Given the description of an element on the screen output the (x, y) to click on. 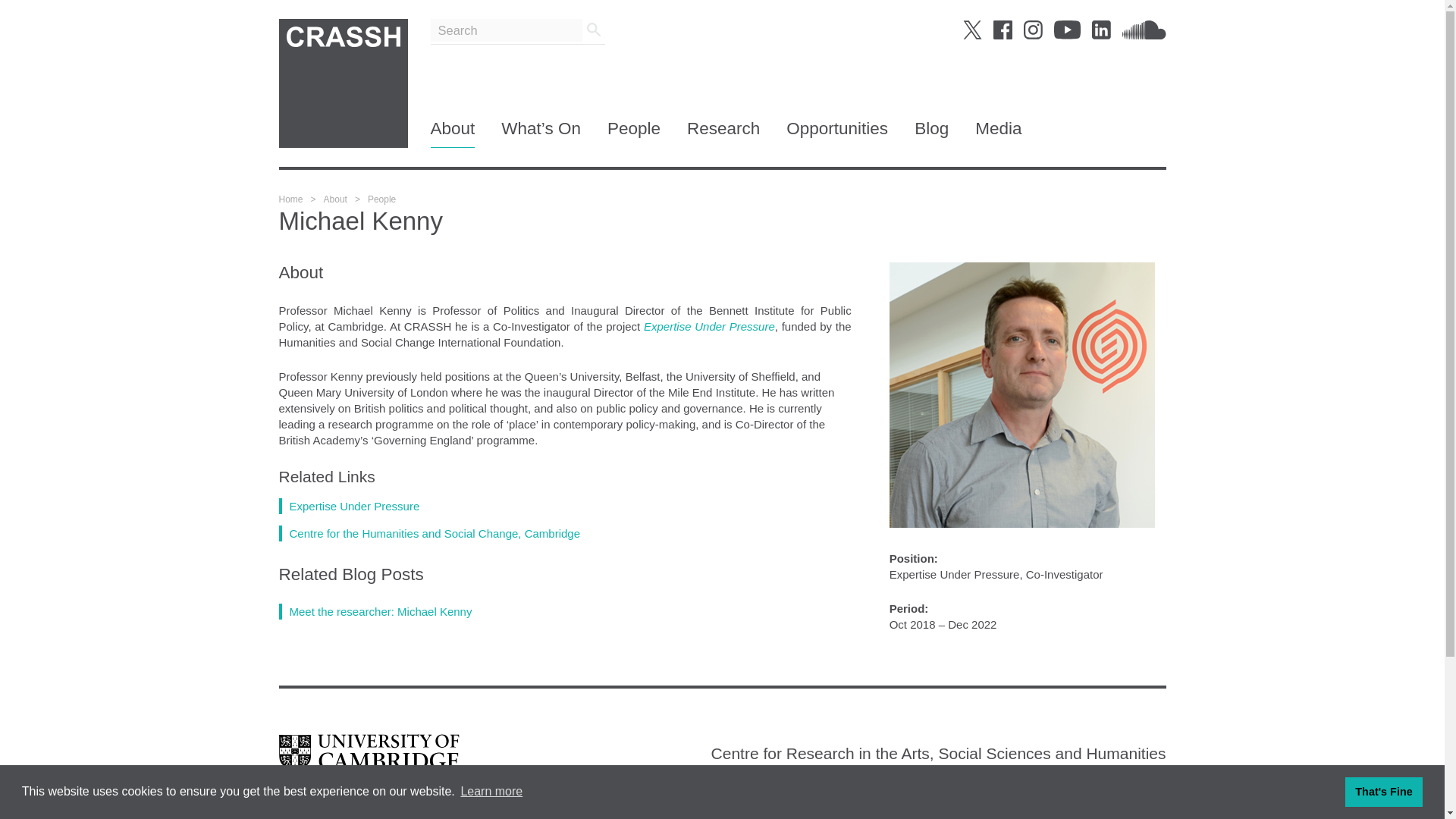
Centre for the Humanities and Social Change, Cambridge (429, 532)
Expertise Under Pressure (349, 505)
Research (723, 132)
People (382, 199)
About (335, 199)
Blog (931, 132)
People (634, 132)
Home (290, 199)
That's Fine (1383, 791)
About (453, 132)
Media (998, 132)
Learn more (491, 791)
Expertise Under Pressure (708, 326)
Opportunities (837, 132)
Meet the researcher: Michael Kenny (375, 611)
